Given the description of an element on the screen output the (x, y) to click on. 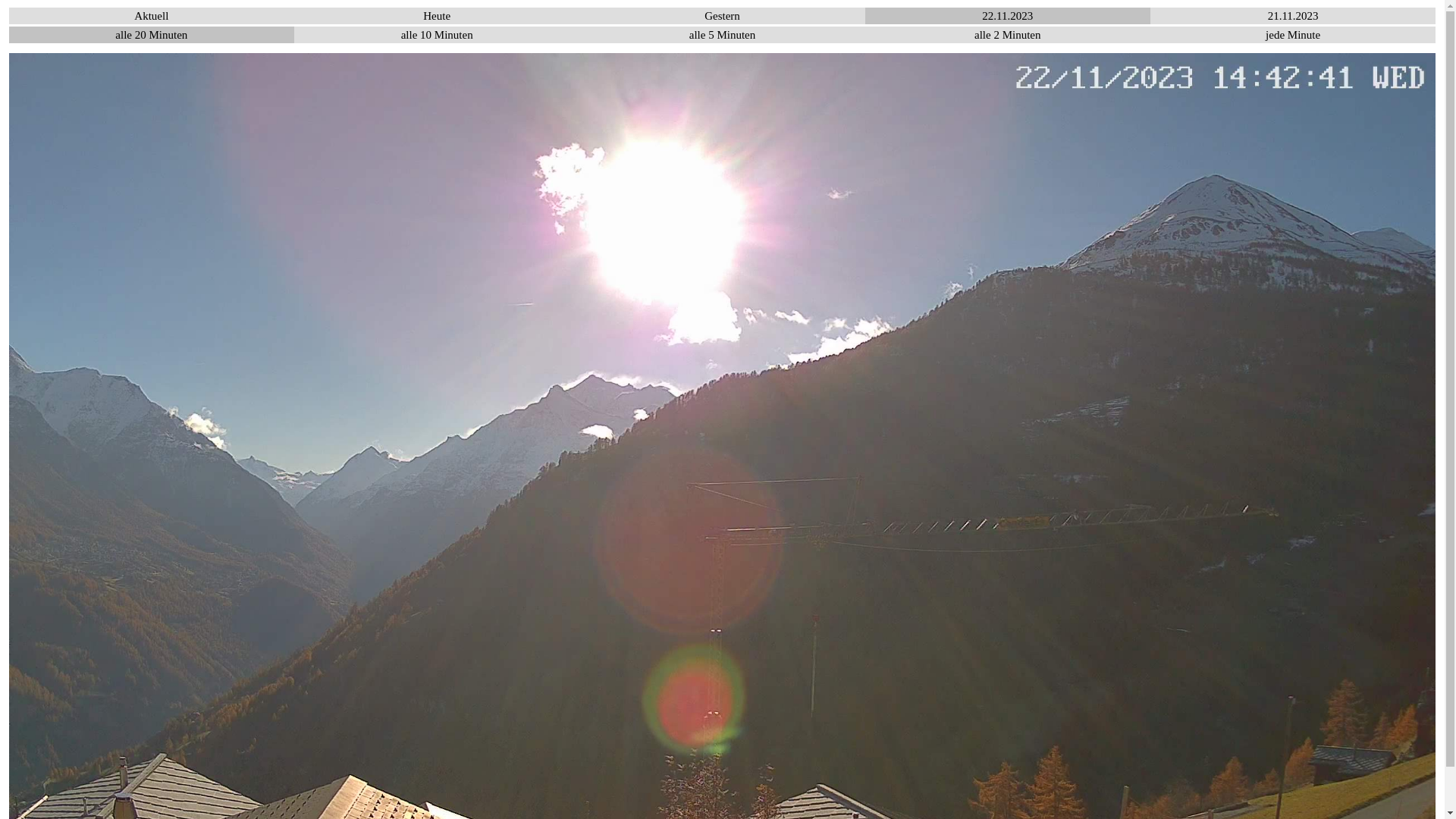
alle 10 Minuten Element type: text (436, 34)
jede Minute Element type: text (1292, 34)
Heute Element type: text (436, 15)
alle 5 Minuten Element type: text (721, 34)
21.11.2023 Element type: text (1292, 15)
alle 2 Minuten Element type: text (1007, 34)
22.11.2023 Element type: text (1007, 15)
alle 20 Minuten Element type: text (151, 34)
Aktuell Element type: text (151, 15)
Gestern Element type: text (721, 15)
